Given the description of an element on the screen output the (x, y) to click on. 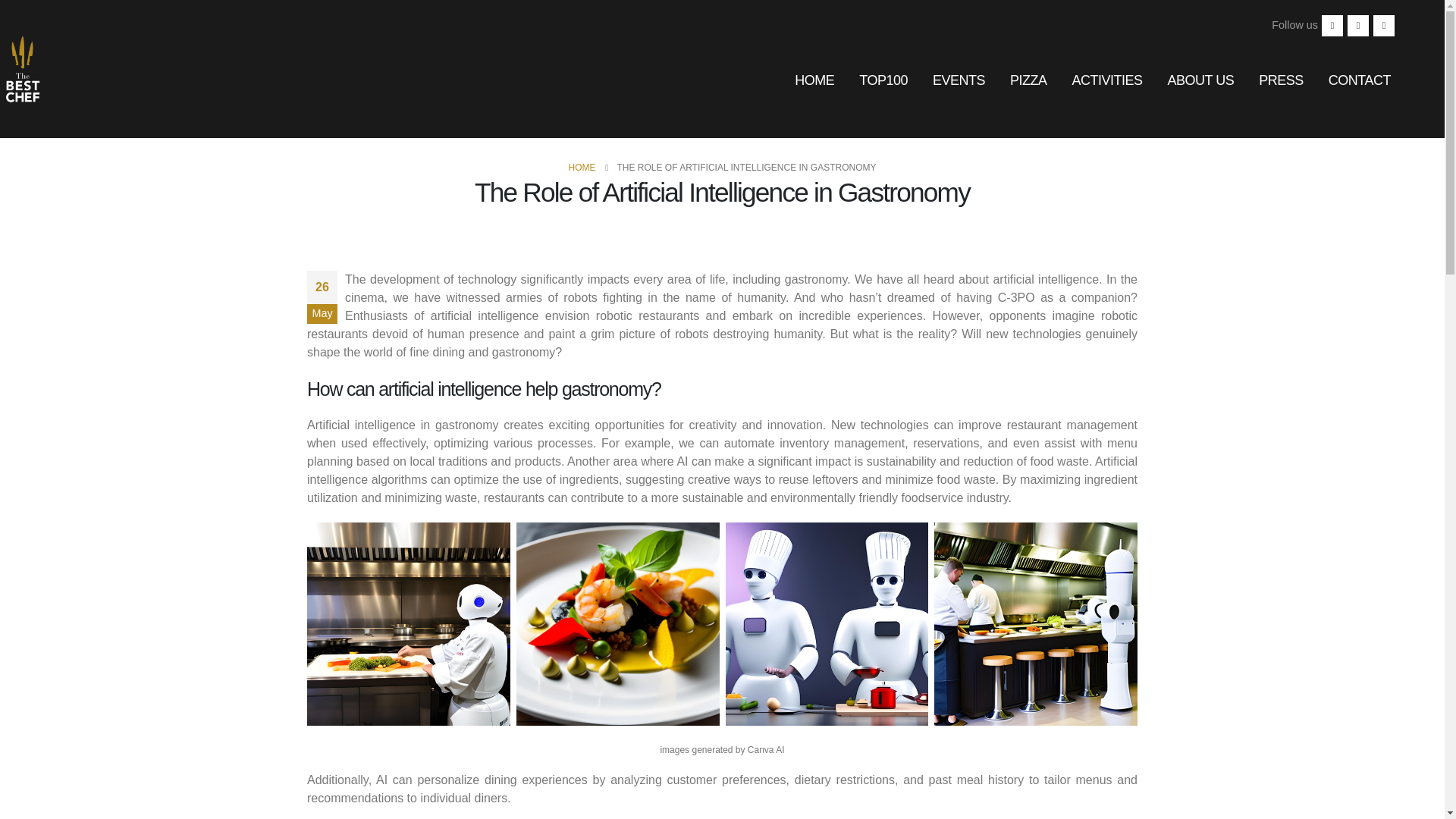
Instagram (1383, 25)
Facebook (1332, 25)
EVENTS (958, 79)
ACTIVITIES (1106, 79)
PRESS (1281, 79)
Go to Home Page (581, 167)
ABOUT US (1201, 79)
CONTACT (1359, 79)
TOP100 (883, 79)
Youtube (1358, 25)
